Given the description of an element on the screen output the (x, y) to click on. 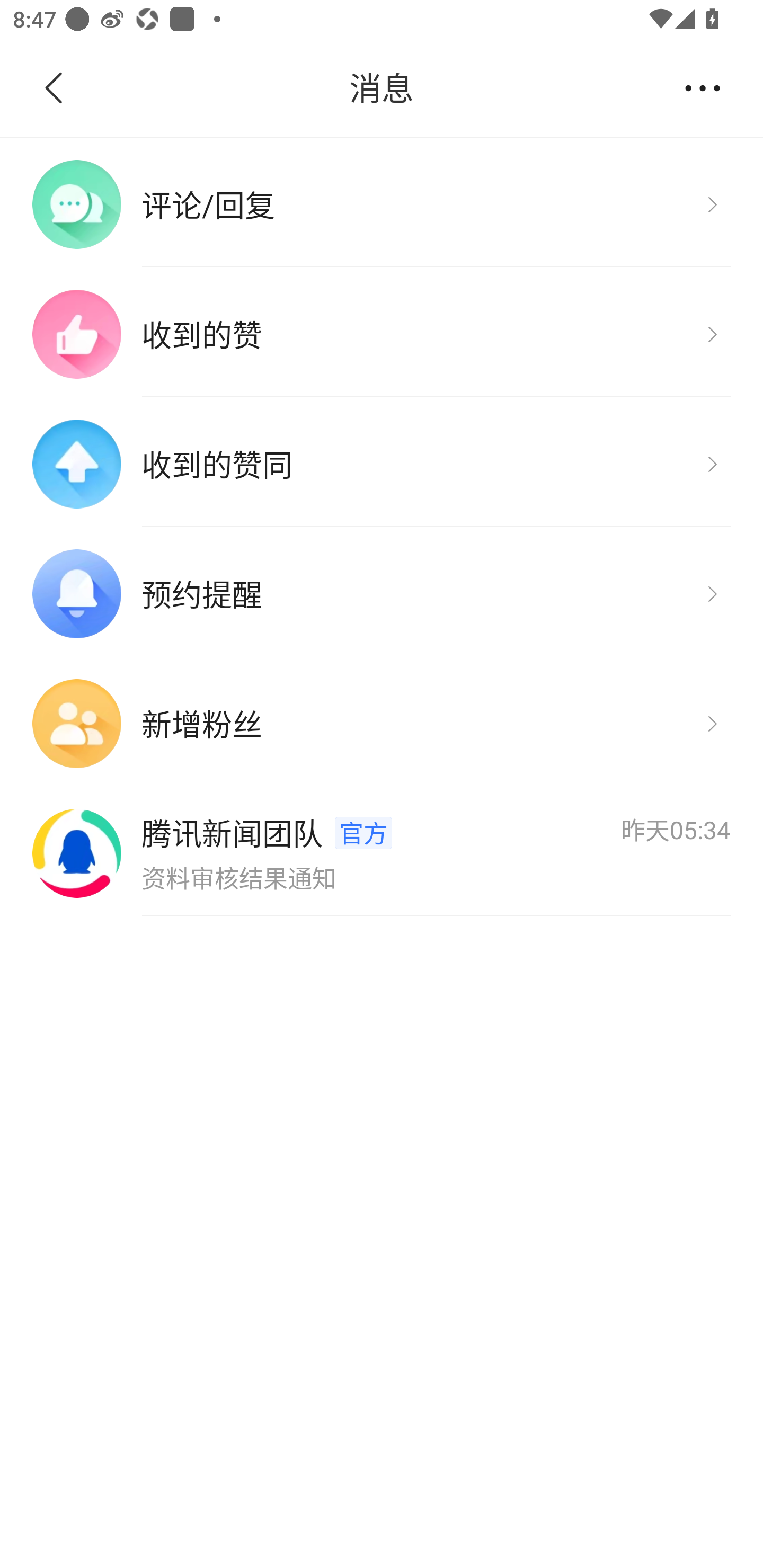
返回，可点击 (91, 87)
设置，可点击 (701, 87)
